Given the description of an element on the screen output the (x, y) to click on. 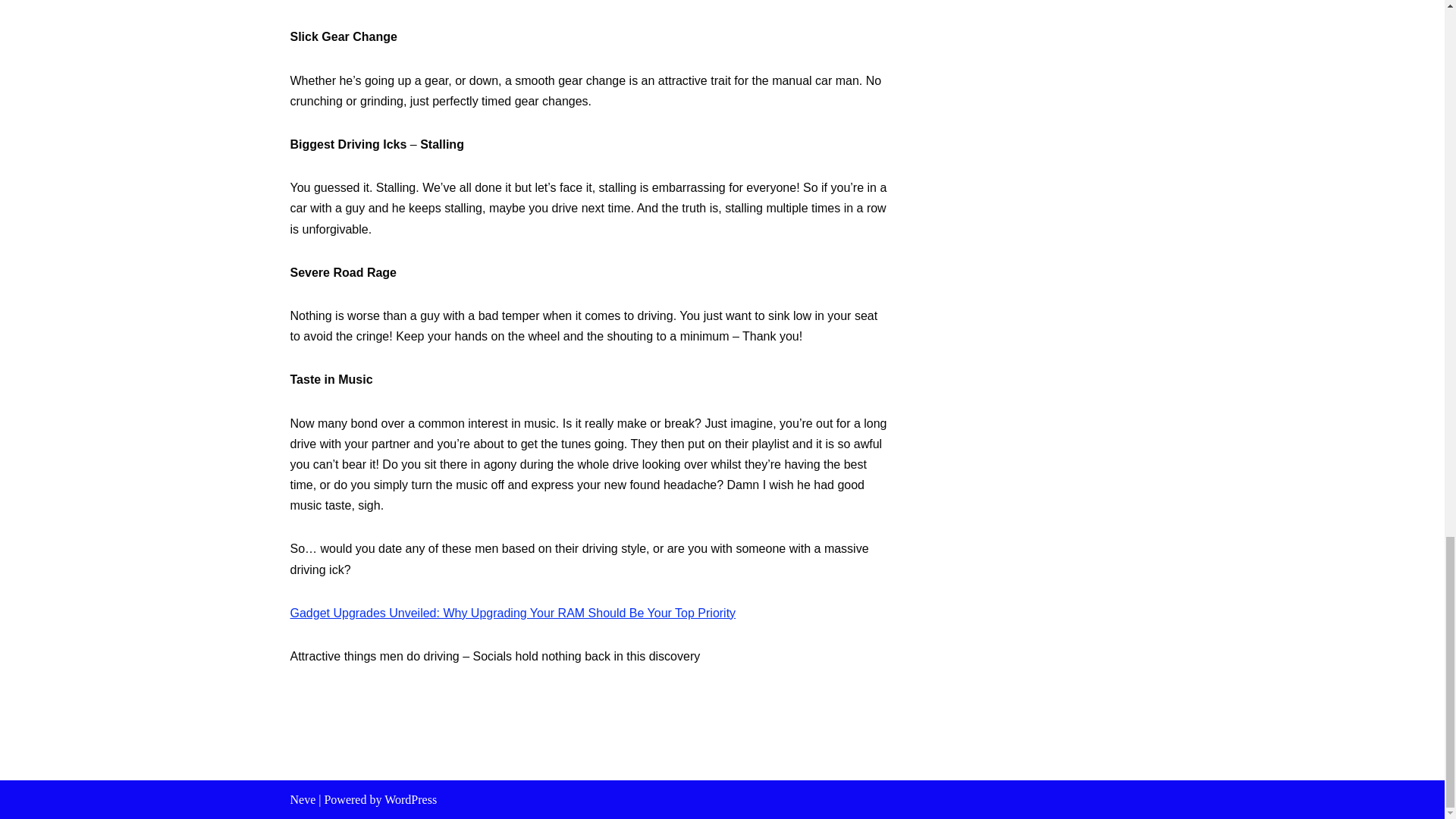
Neve (302, 799)
WordPress (410, 799)
